Given the description of an element on the screen output the (x, y) to click on. 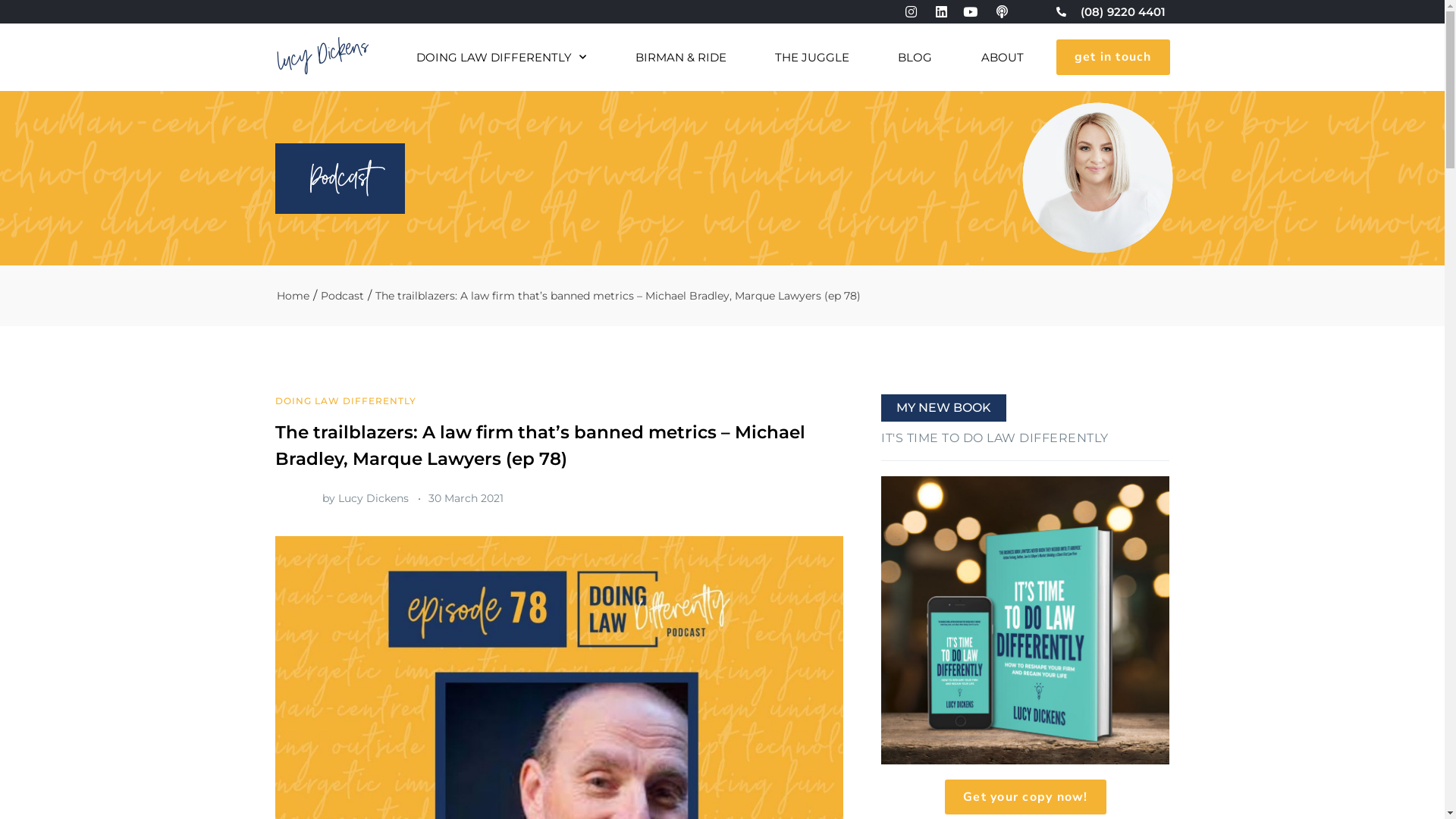
BLOG Element type: text (915, 57)
Get your copy now! Element type: text (1025, 796)
BIRMAN & RIDE Element type: text (680, 57)
get in touch Element type: text (1112, 56)
DOING LAW DIFFERENTLY Element type: text (500, 57)
Lucy Dickens Element type: text (319, 48)
DOING LAW DIFFERENTLY Element type: text (344, 400)
THE JUGGLE Element type: text (811, 57)
Home Element type: text (292, 296)
ABOUT Element type: text (1002, 57)
Podcast Element type: text (341, 296)
